Given the description of an element on the screen output the (x, y) to click on. 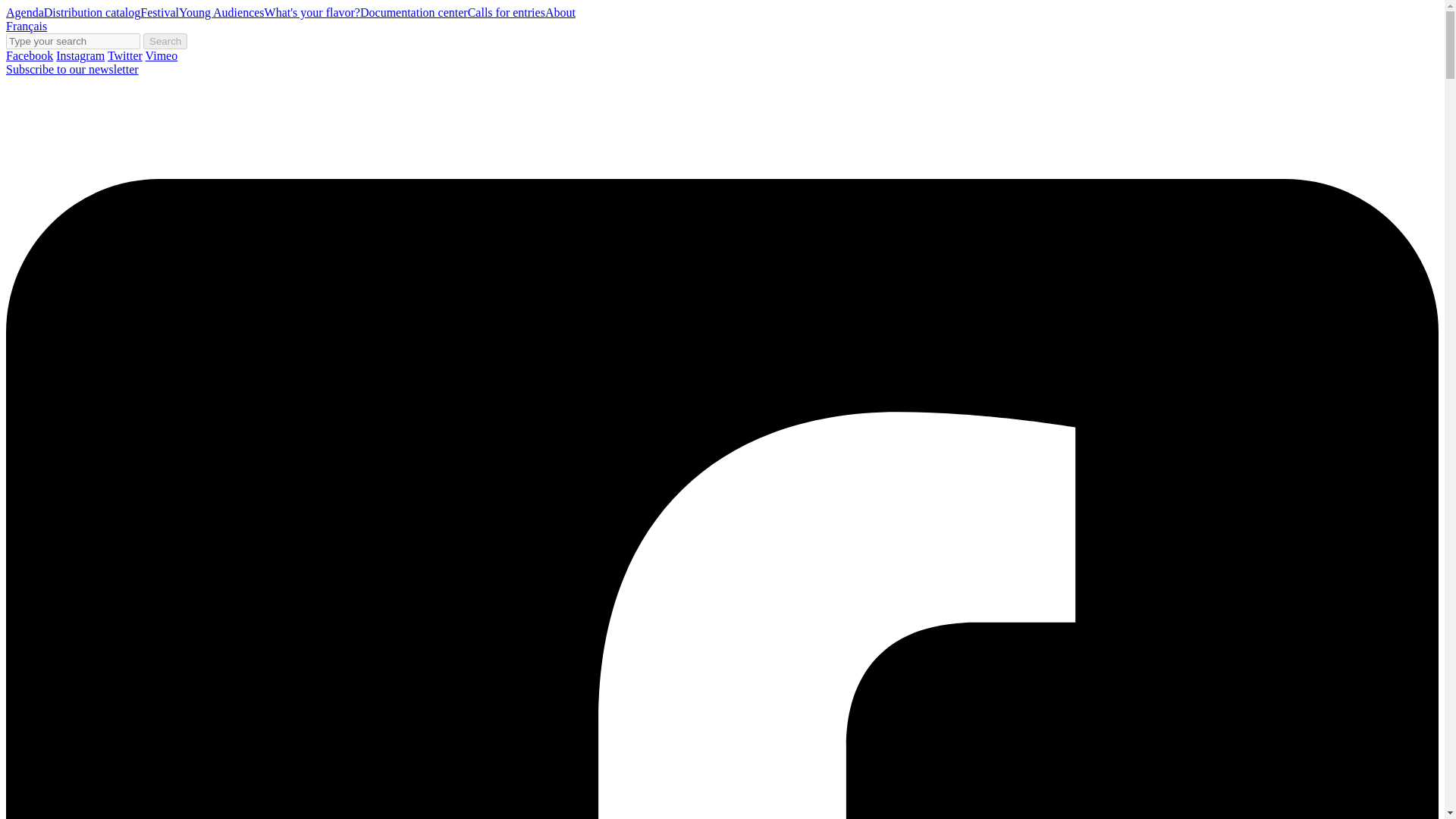
Calls for entries (505, 11)
What's your flavor? (311, 11)
Facebook (28, 55)
Festival (159, 11)
Distribution catalog (92, 11)
Twitter (124, 55)
Young Audiences (221, 11)
Agenda (24, 11)
Documentation center (413, 11)
Vimeo (161, 55)
Search (164, 41)
About (559, 11)
Instagram (80, 55)
Subscribe to our newsletter (71, 69)
